Given the description of an element on the screen output the (x, y) to click on. 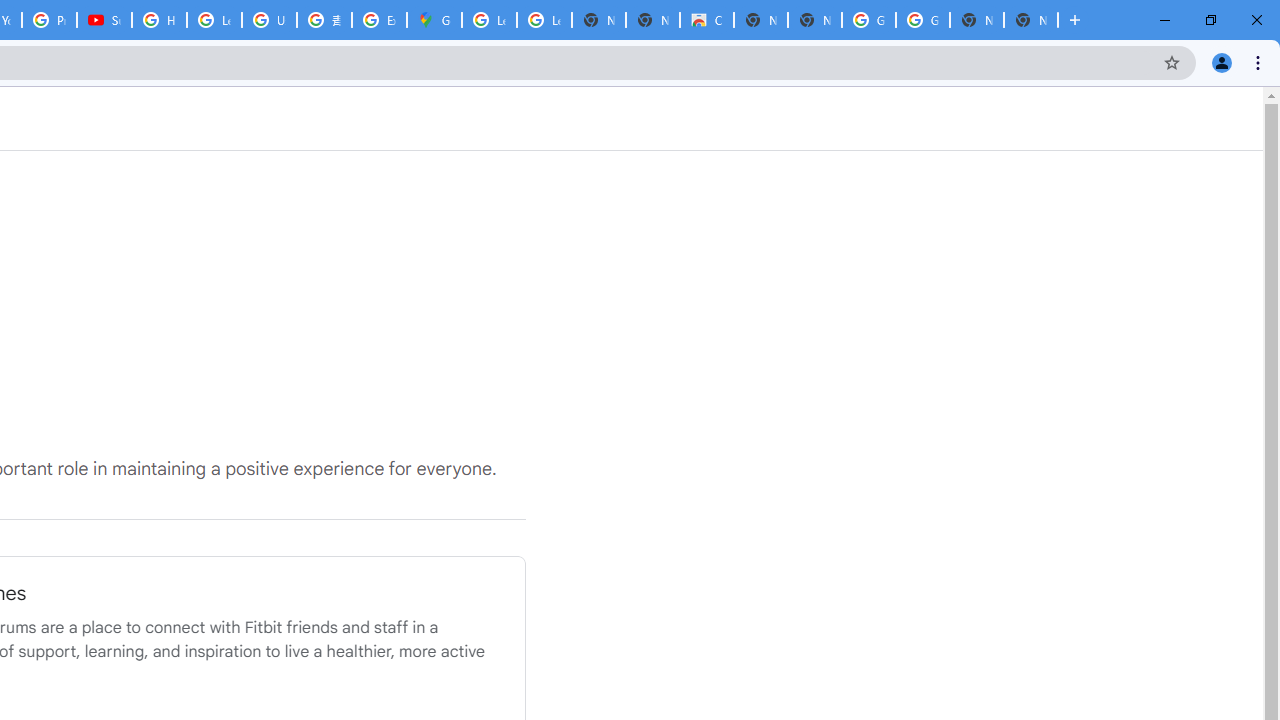
Google Maps (434, 20)
Google Images (922, 20)
Subscriptions - YouTube (103, 20)
